Given the description of an element on the screen output the (x, y) to click on. 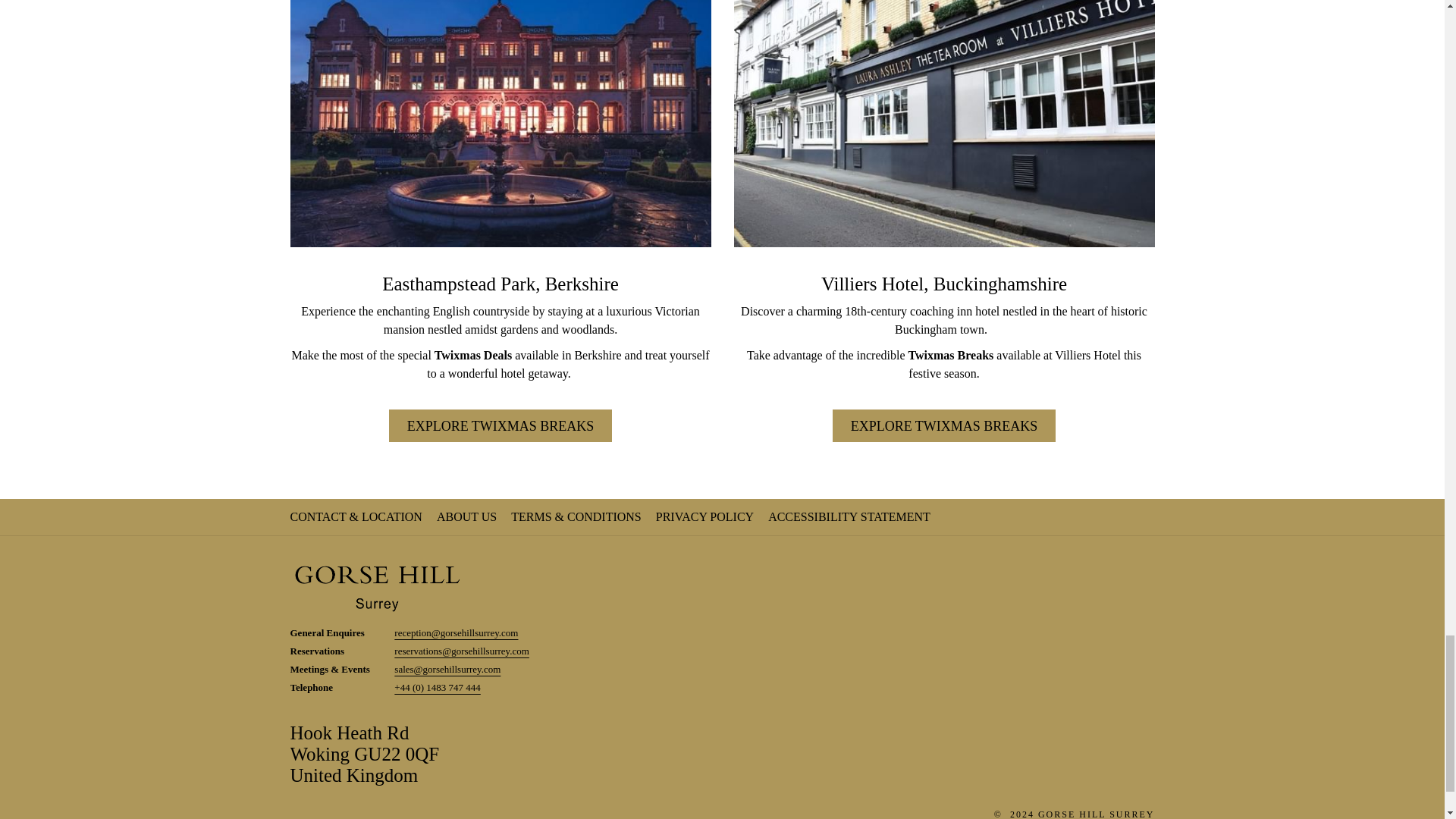
PRIVACY POLICY (944, 425)
Villiers Hotel, Buckinghamshire (706, 516)
ACCESSIBILITY STATEMENT (500, 425)
Easthampstead Park, Berkshire (944, 283)
ABOUT US (851, 516)
